Given the description of an element on the screen output the (x, y) to click on. 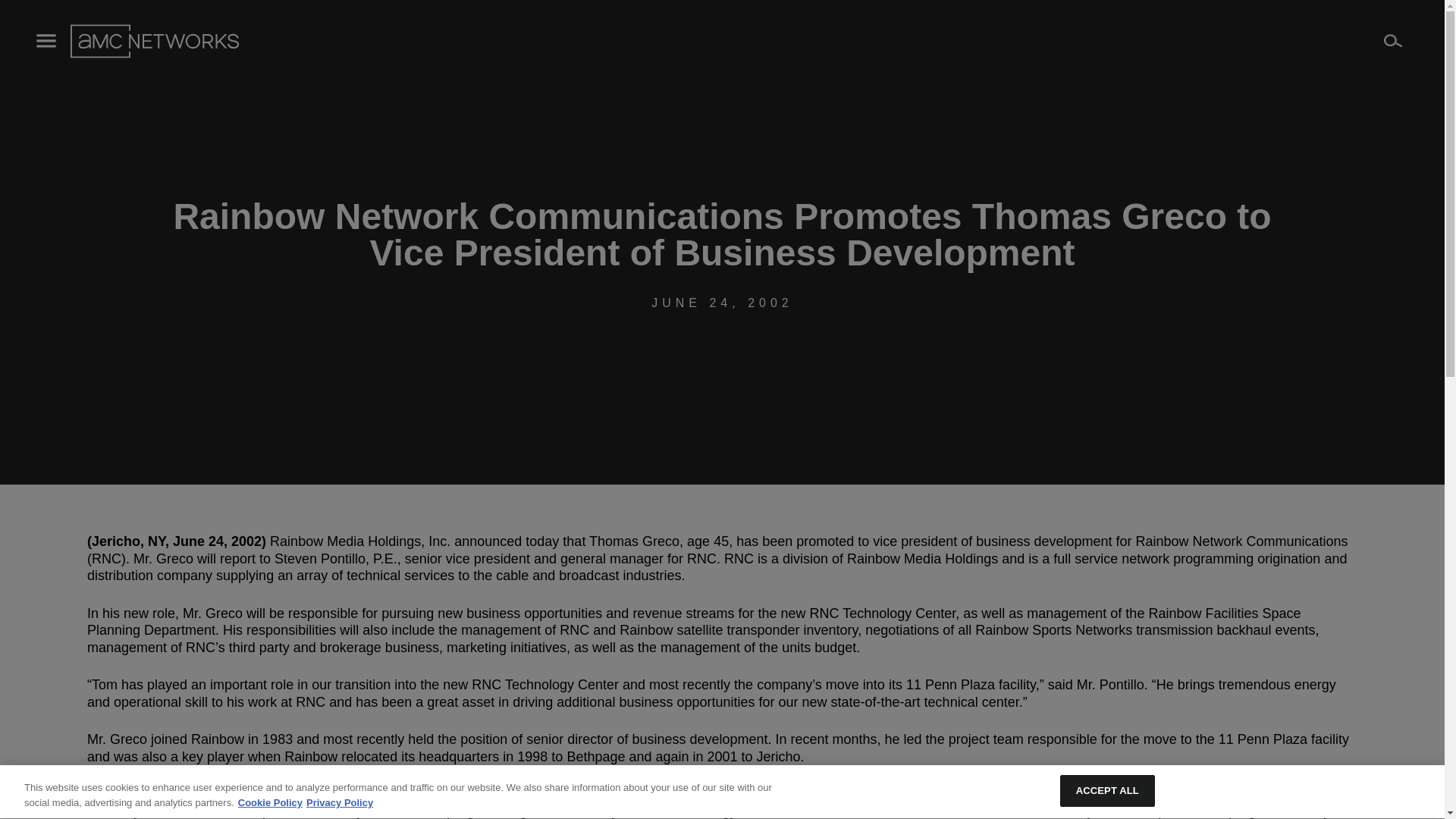
AMC Networks (153, 41)
